Given the description of an element on the screen output the (x, y) to click on. 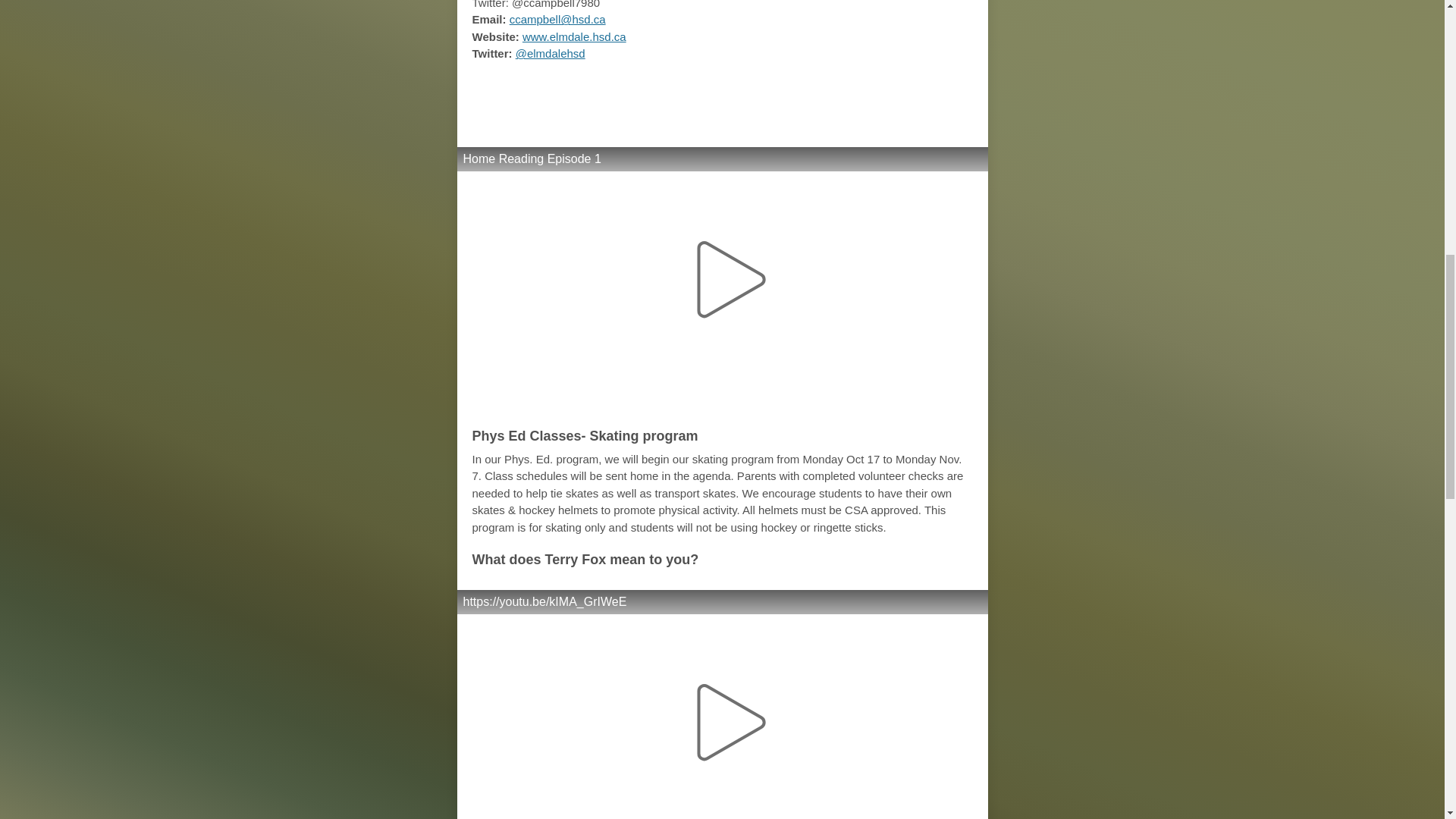
Home (789, 96)
Reading (866, 96)
Early (598, 96)
Elmdale (530, 96)
Off! (721, 120)
www.elmdale.hsd.ca (574, 36)
Kick (933, 96)
Years (654, 96)
School (720, 96)
